Given the description of an element on the screen output the (x, y) to click on. 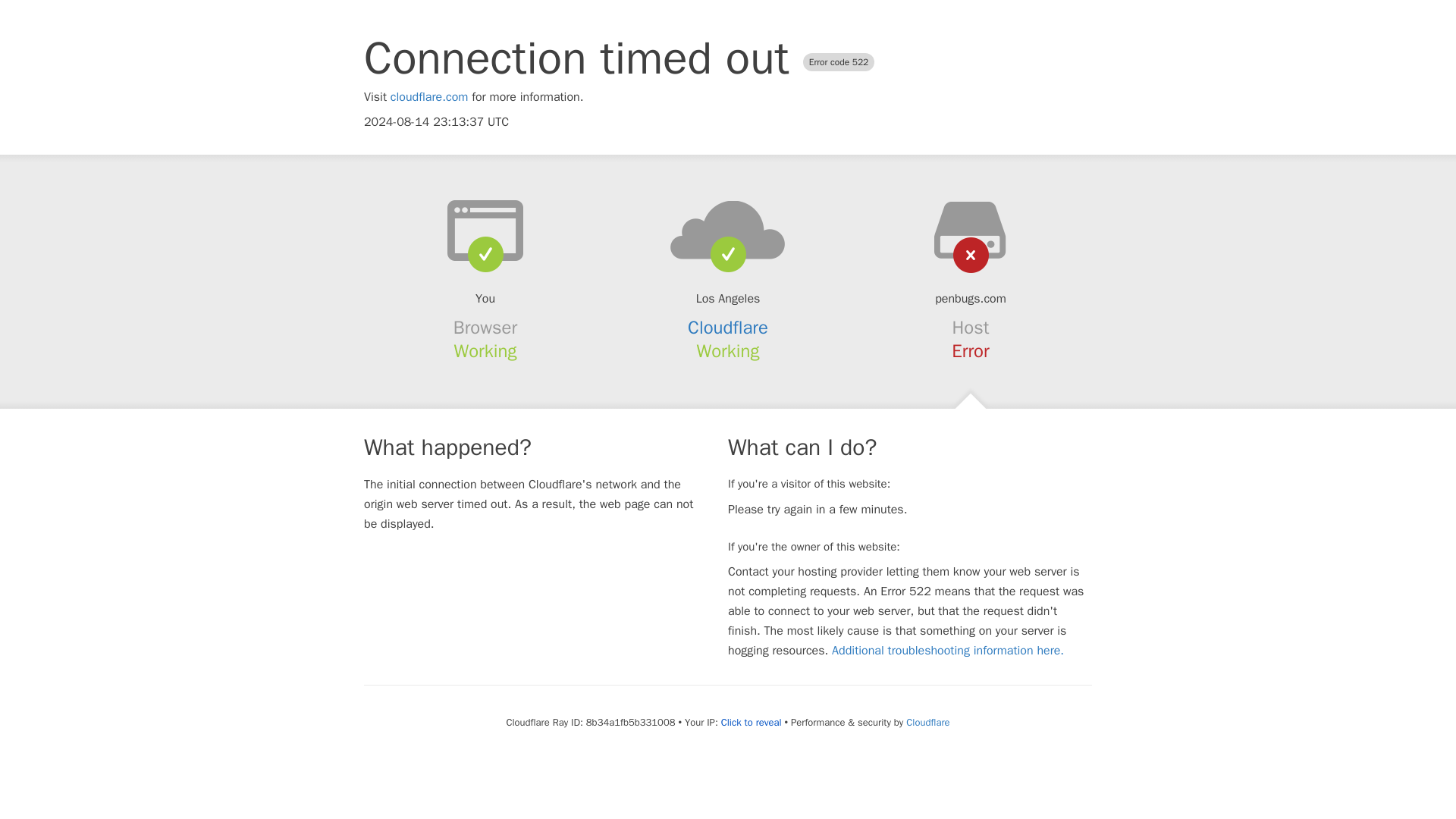
Additional troubleshooting information here. (947, 650)
cloudflare.com (429, 96)
Cloudflare (927, 721)
Click to reveal (750, 722)
Cloudflare (727, 327)
